Given the description of an element on the screen output the (x, y) to click on. 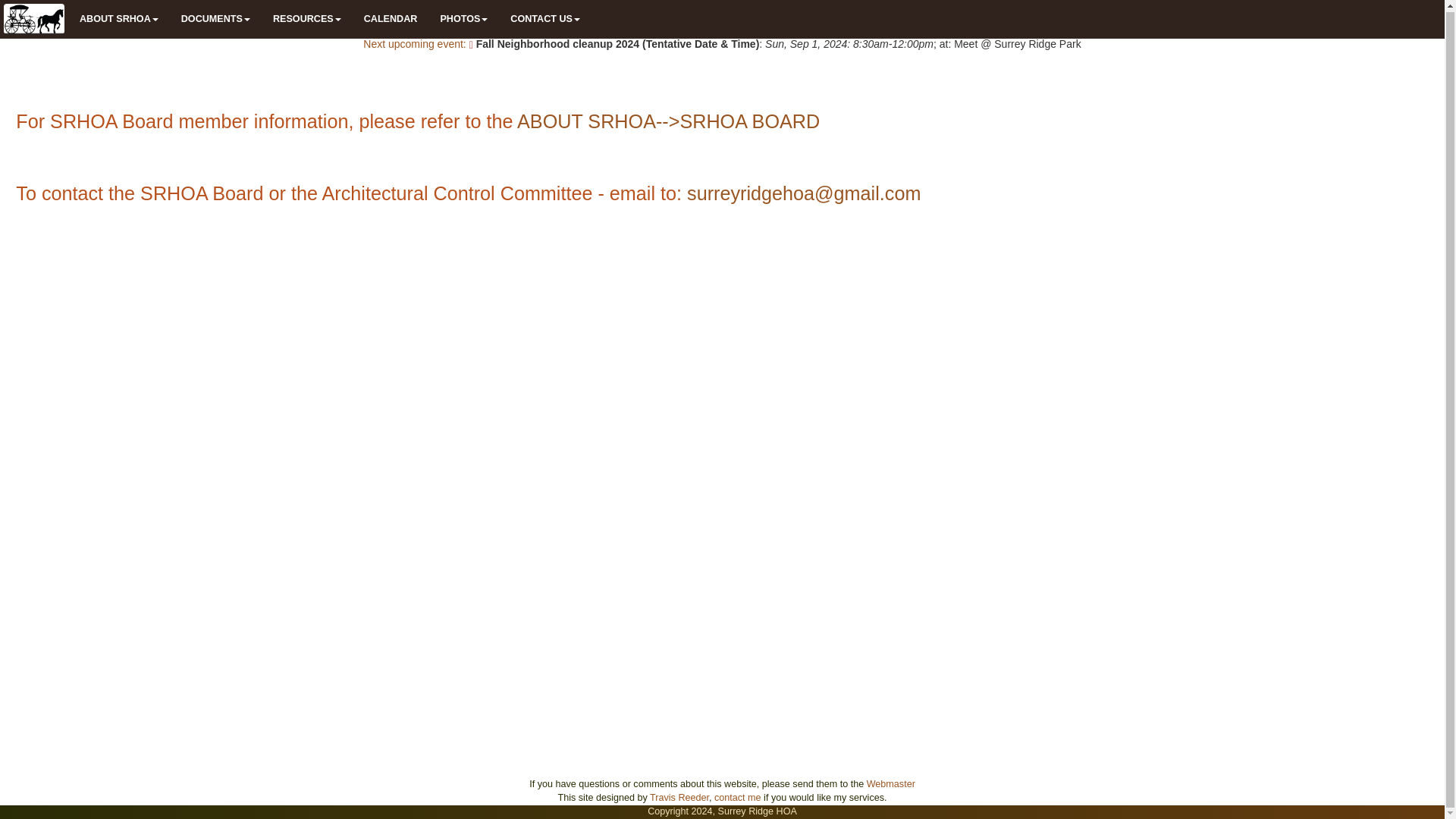
RESOURCES (307, 18)
ABOUT SRHOA (119, 18)
PHOTOS (463, 18)
CALENDAR (390, 18)
DOCUMENTS (216, 18)
CONTACT US (545, 18)
Next upcoming event: (416, 43)
